Given the description of an element on the screen output the (x, y) to click on. 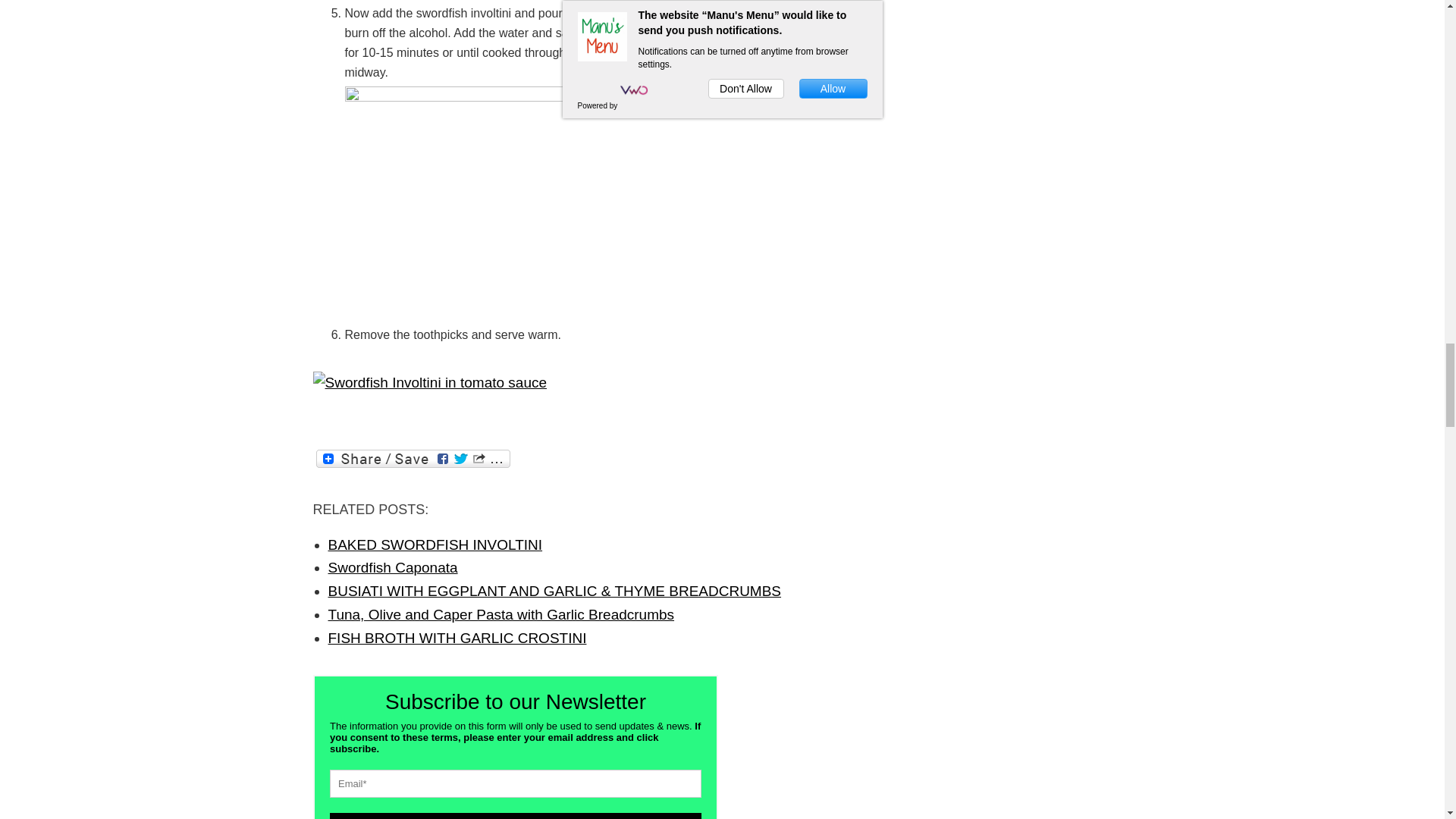
Swordfish Caponata (392, 567)
FISH BROTH WITH GARLIC CROSTINI (456, 637)
Swordfish Involtini in tomato sauce (430, 382)
Tuna, Olive and Caper Pasta with Garlic Breadcrumbs (500, 614)
BAKED SWORDFISH INVOLTINI (434, 544)
